Given the description of an element on the screen output the (x, y) to click on. 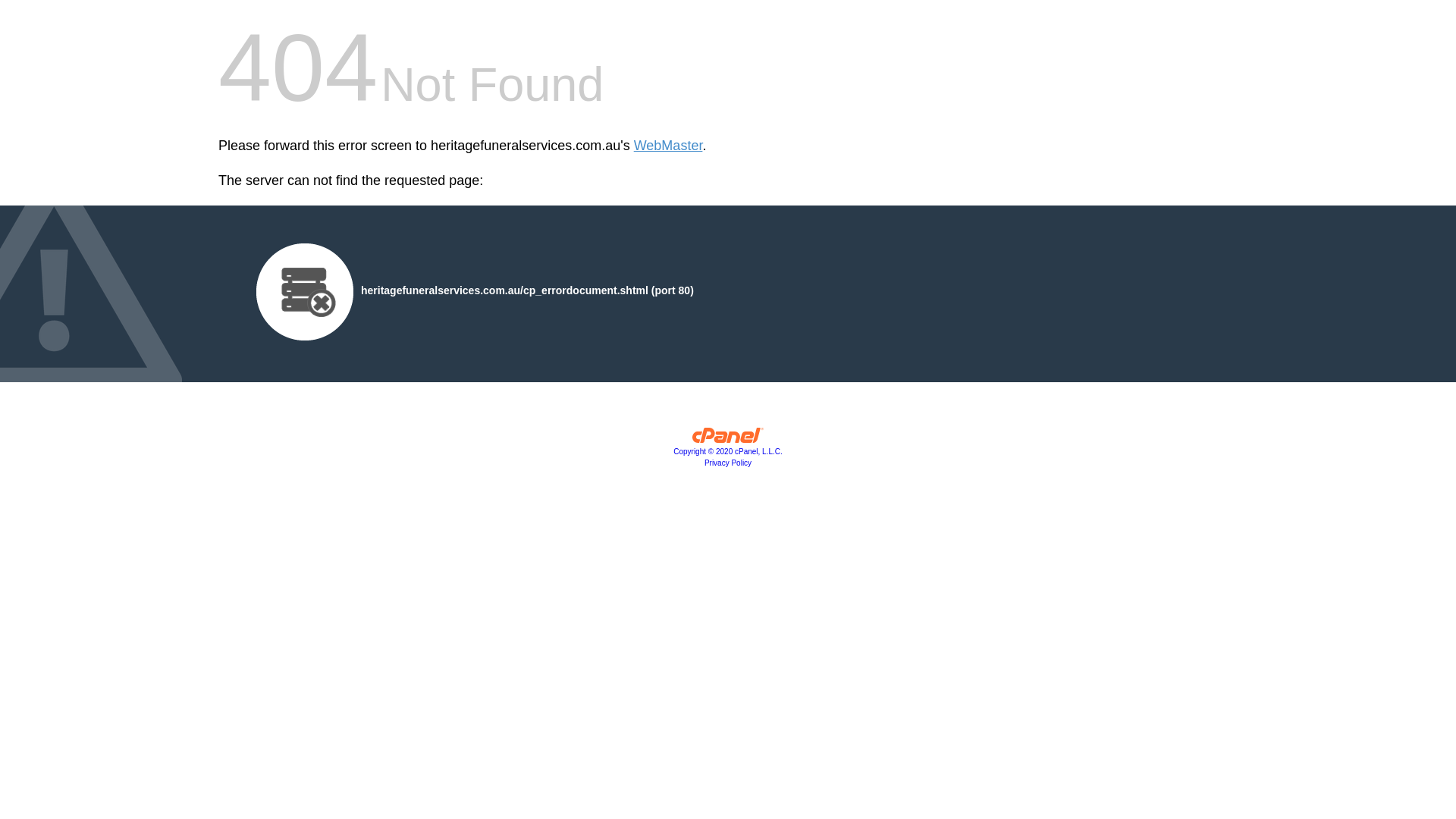
Privacy Policy Element type: text (727, 462)
WebMaster Element type: text (667, 145)
cPanel, Inc. Element type: hover (728, 439)
